Given the description of an element on the screen output the (x, y) to click on. 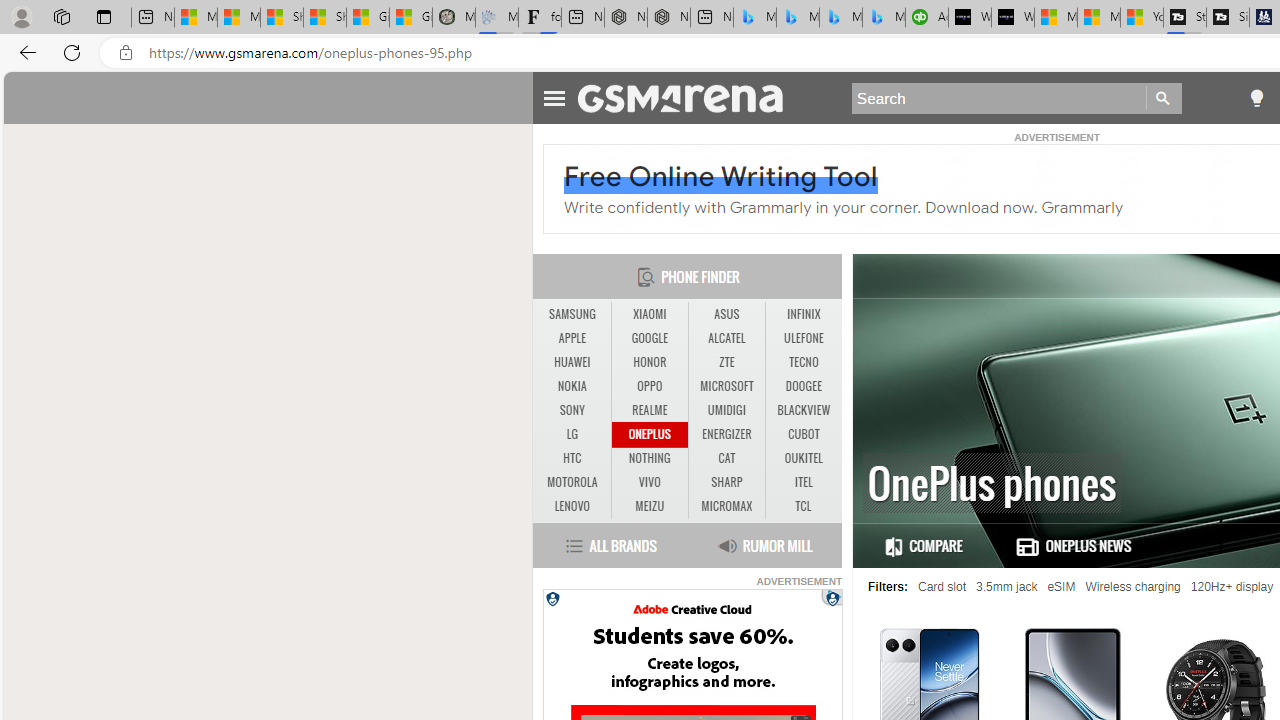
NOTHING (649, 458)
NOKIA (571, 385)
DOOGEE (803, 385)
ASUS (726, 313)
OUKITEL (803, 457)
CAT (726, 457)
Streaming Coverage | T3 (1184, 17)
3.5mm jack (1007, 587)
SHARP (726, 483)
